Given the description of an element on the screen output the (x, y) to click on. 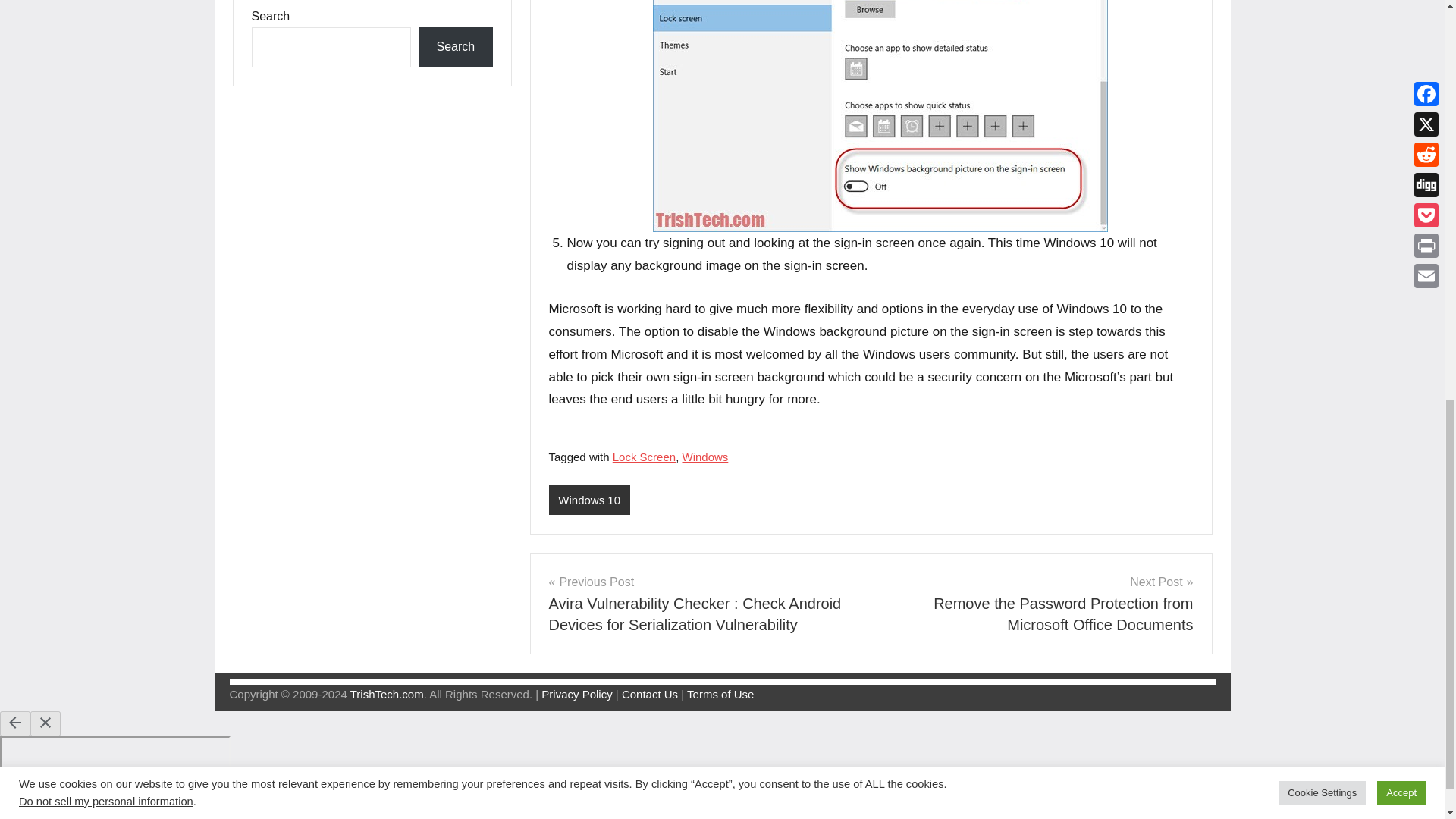
Search (455, 47)
Windows (704, 456)
Terms of Use (720, 694)
Privacy Policy (576, 694)
Windows 10 (589, 500)
Contact Us (649, 694)
Lock Screen (643, 456)
TrishTech.com (386, 694)
